Given the description of an element on the screen output the (x, y) to click on. 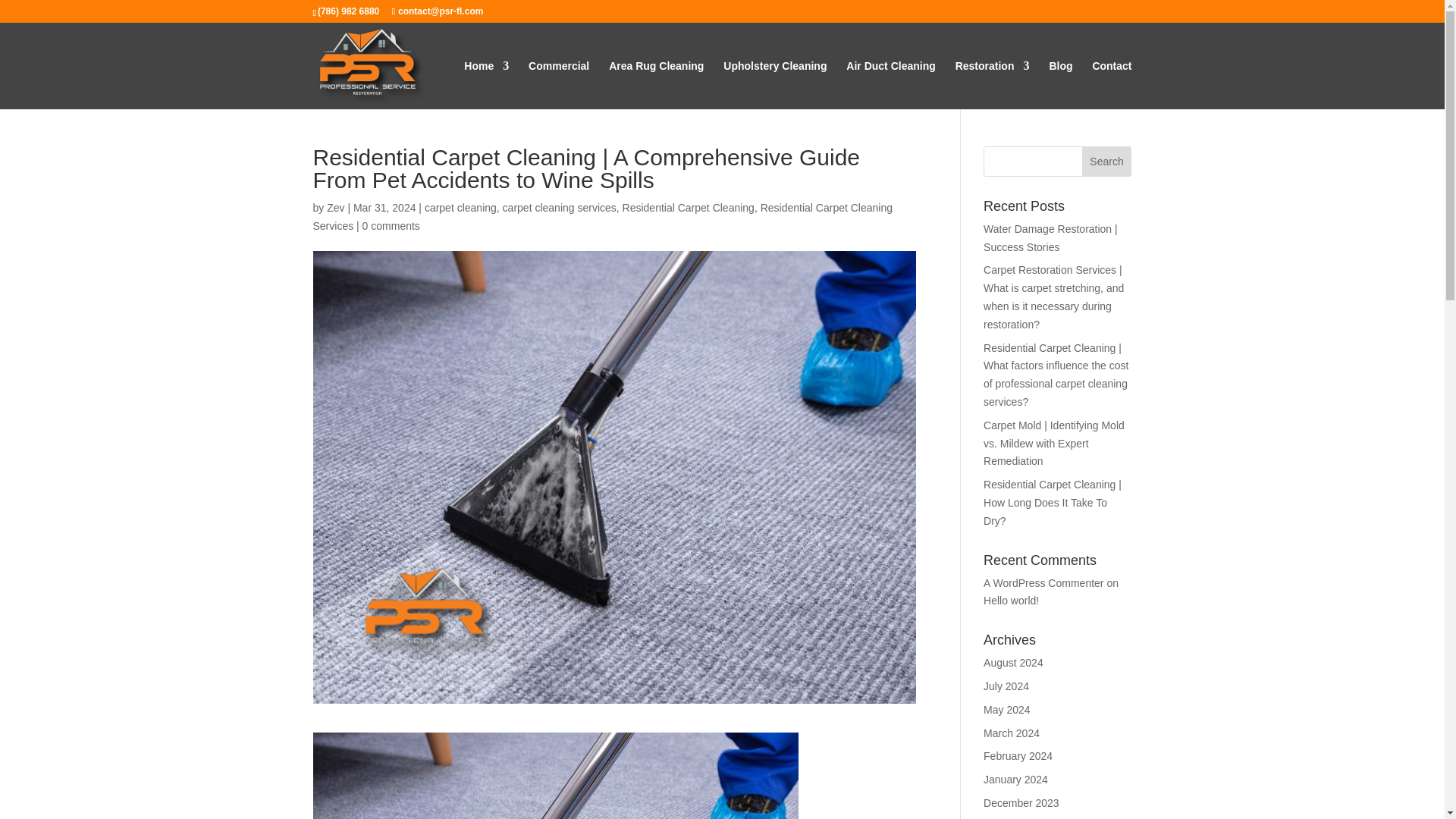
Air Duct Cleaning (889, 84)
Restoration (992, 84)
Area Rug Cleaning (655, 84)
carpet cleaning (460, 207)
Upholstery Cleaning (775, 84)
Posts by Zev (334, 207)
Home (486, 84)
Commercial (558, 84)
carpet cleaning services (558, 207)
Zev (334, 207)
